Given the description of an element on the screen output the (x, y) to click on. 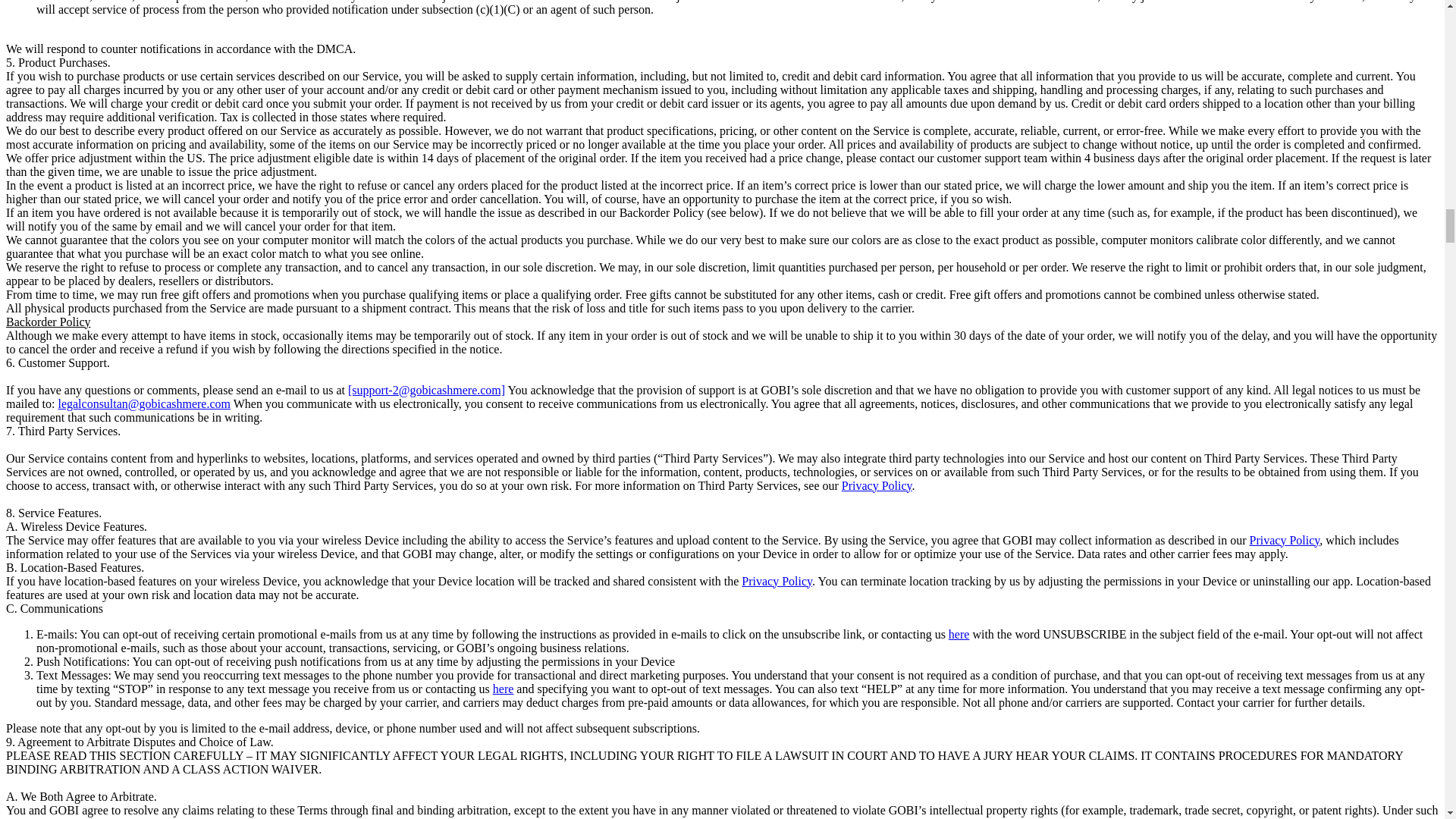
here (503, 688)
Privacy Policy (1284, 540)
Privacy Policy (876, 485)
here (959, 634)
Privacy Policy (776, 581)
